Given the description of an element on the screen output the (x, y) to click on. 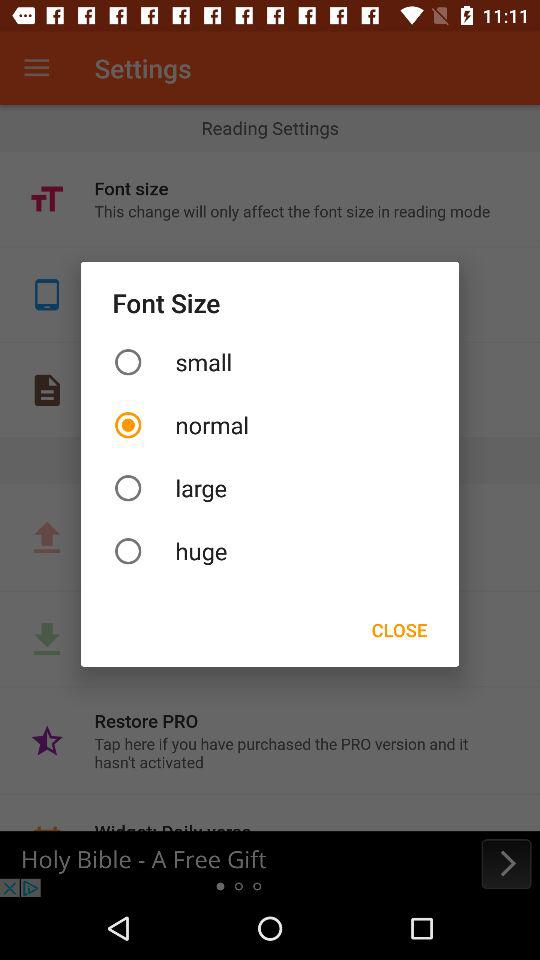
flip until large icon (270, 487)
